Given the description of an element on the screen output the (x, y) to click on. 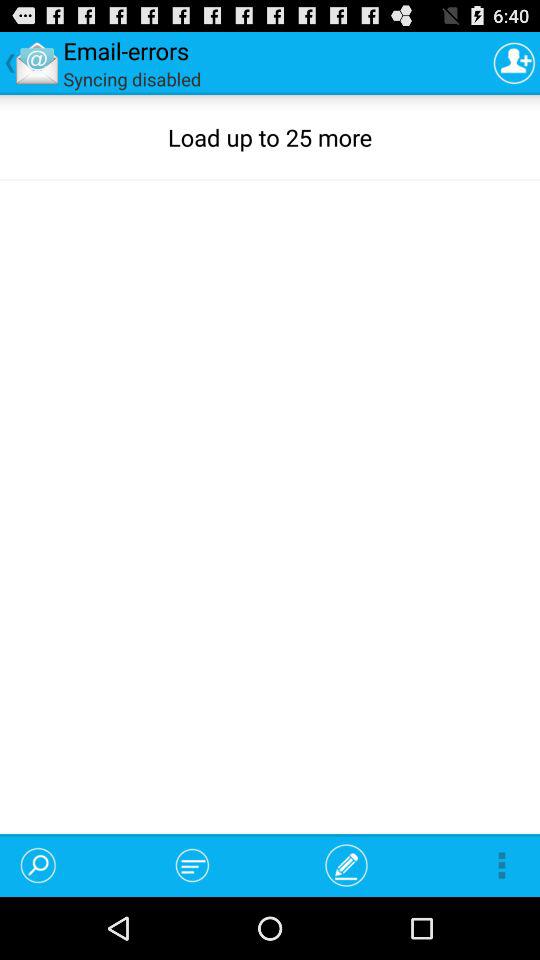
launch item below syncing disabled item (38, 864)
